Given the description of an element on the screen output the (x, y) to click on. 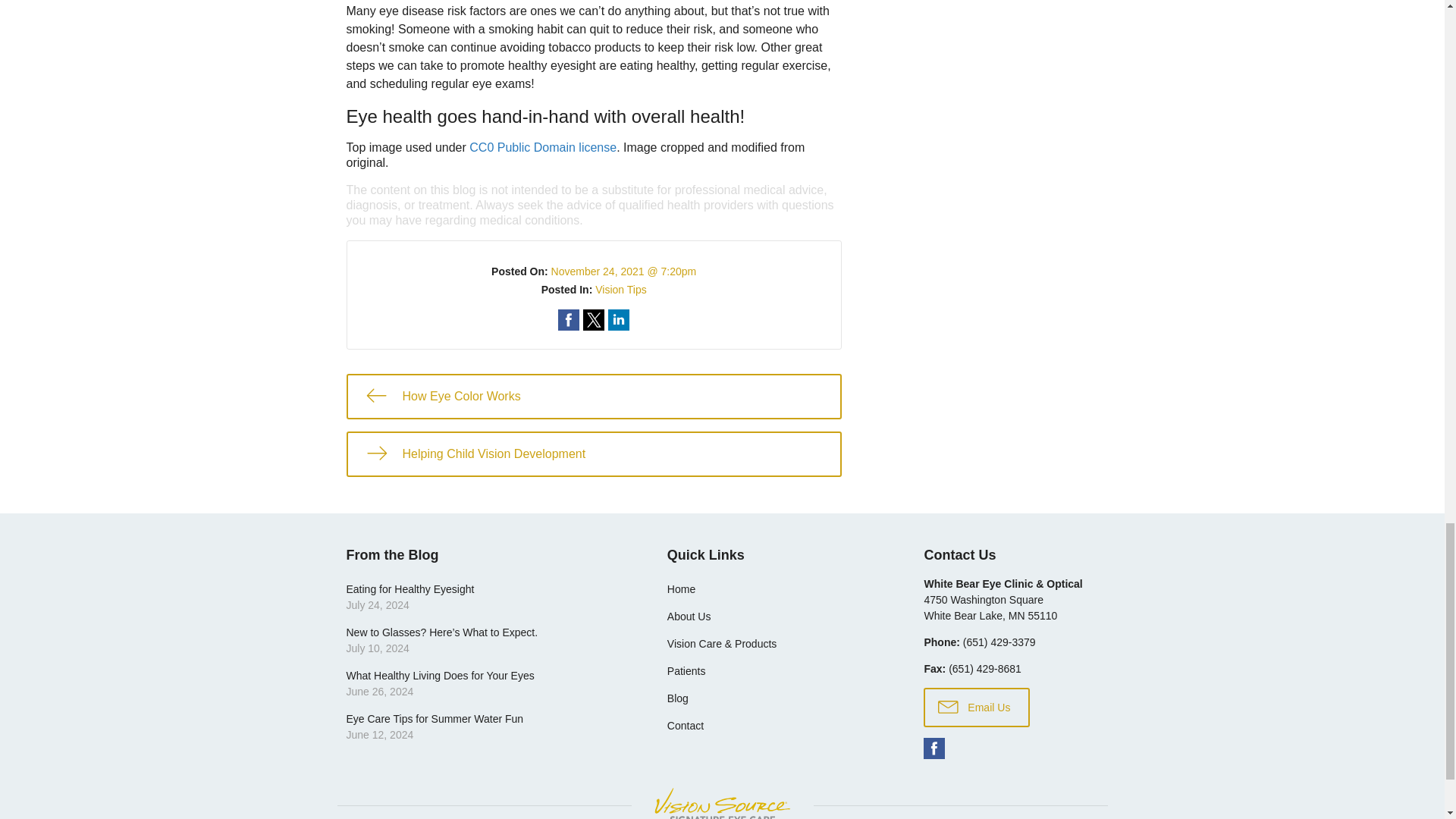
Share on Twitter (593, 319)
Share on Facebook (568, 319)
Vision Tips (620, 289)
Helping Child Vision Development (593, 453)
Share on LinkedIn (618, 319)
How Eye Color Works (593, 396)
Share on LinkedIn (618, 319)
CC0 Public Domain license (541, 146)
Go to our Facebook Page (933, 747)
Share on Facebook (568, 319)
Share on Twitter (593, 319)
Open this address in Google Maps (990, 606)
Contact practice (998, 641)
